Given the description of an element on the screen output the (x, y) to click on. 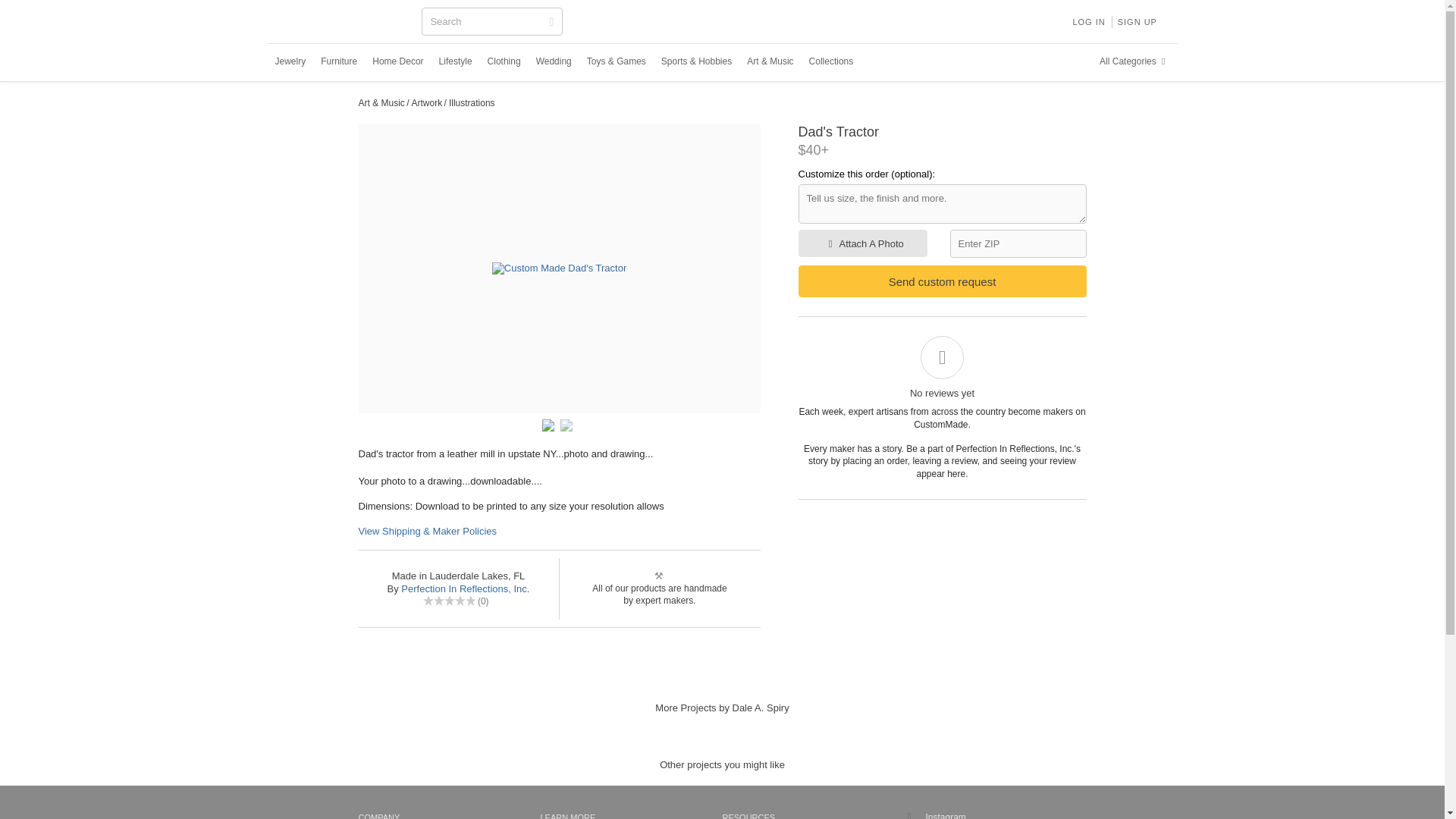
Log in to CustomMade (1087, 21)
Custom Jewelry (289, 61)
SIGN UP (1137, 21)
Jewelry (289, 61)
LOG IN (1087, 21)
CUSTOMMADE (342, 22)
All Categories (1134, 61)
